Given the description of an element on the screen output the (x, y) to click on. 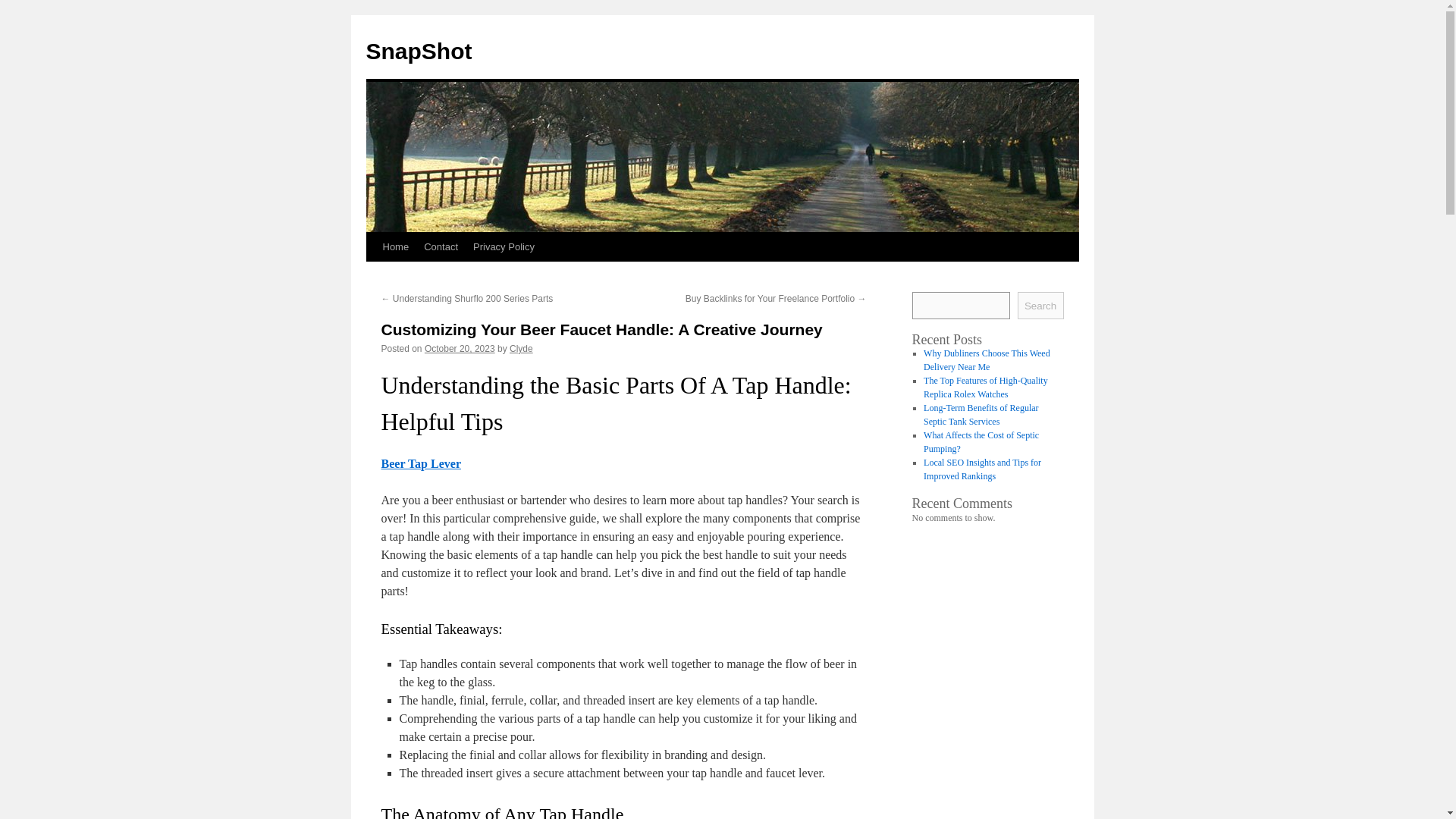
Long-Term Benefits of Regular Septic Tank Services (980, 414)
View all posts by Clyde (520, 348)
Beer Tap Lever (420, 463)
Local SEO Insights and Tips for Improved Rankings (982, 469)
October 20, 2023 (460, 348)
Home (395, 246)
Why Dubliners Choose This Weed Delivery Near Me (986, 360)
Search (1040, 305)
SnapShot (418, 50)
Privacy Policy (503, 246)
